Given the description of an element on the screen output the (x, y) to click on. 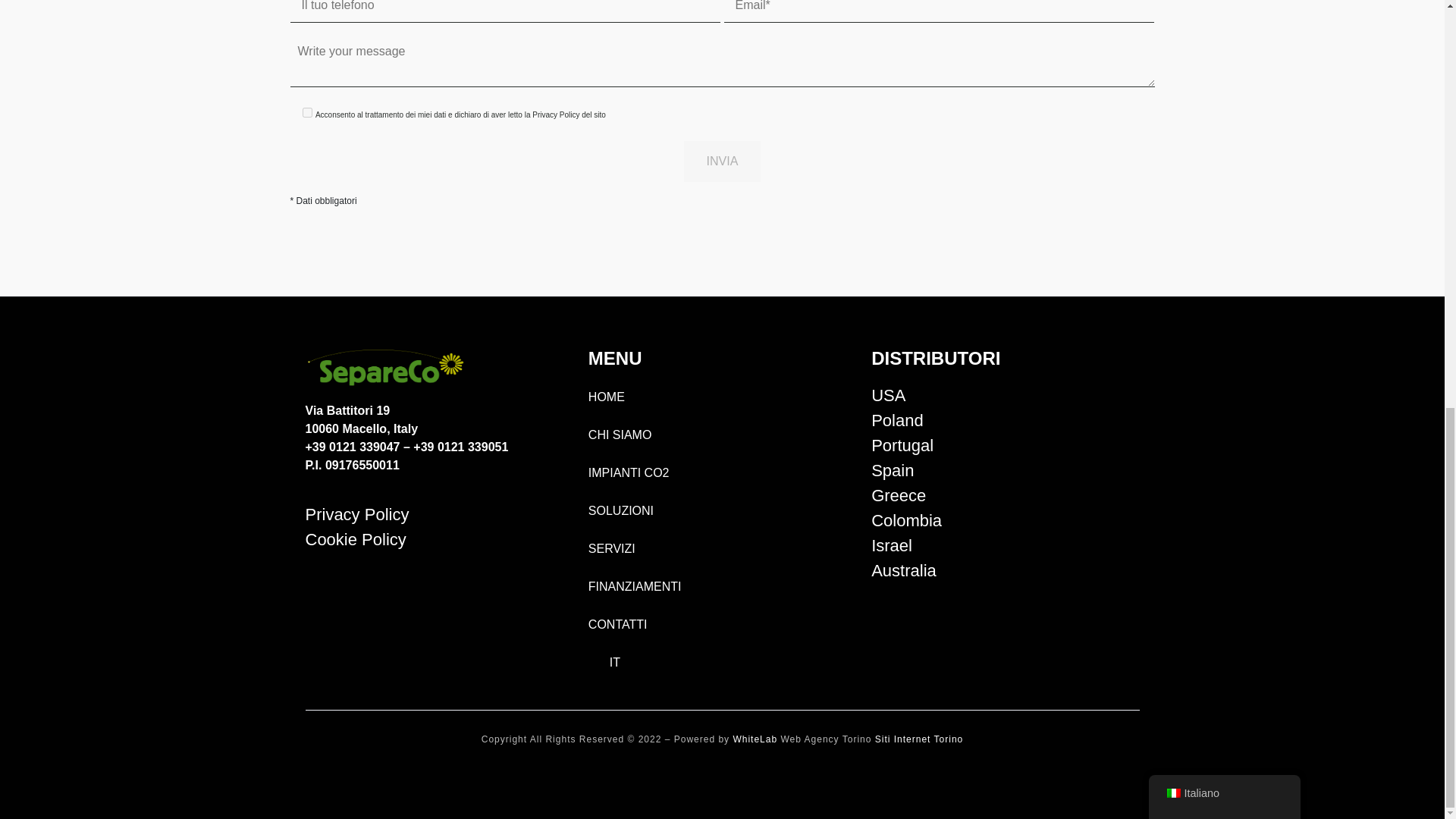
1 (306, 112)
Italiano (598, 662)
Separeco, via Battitori 19, Macello (438, 636)
INVIA (722, 160)
